Given the description of an element on the screen output the (x, y) to click on. 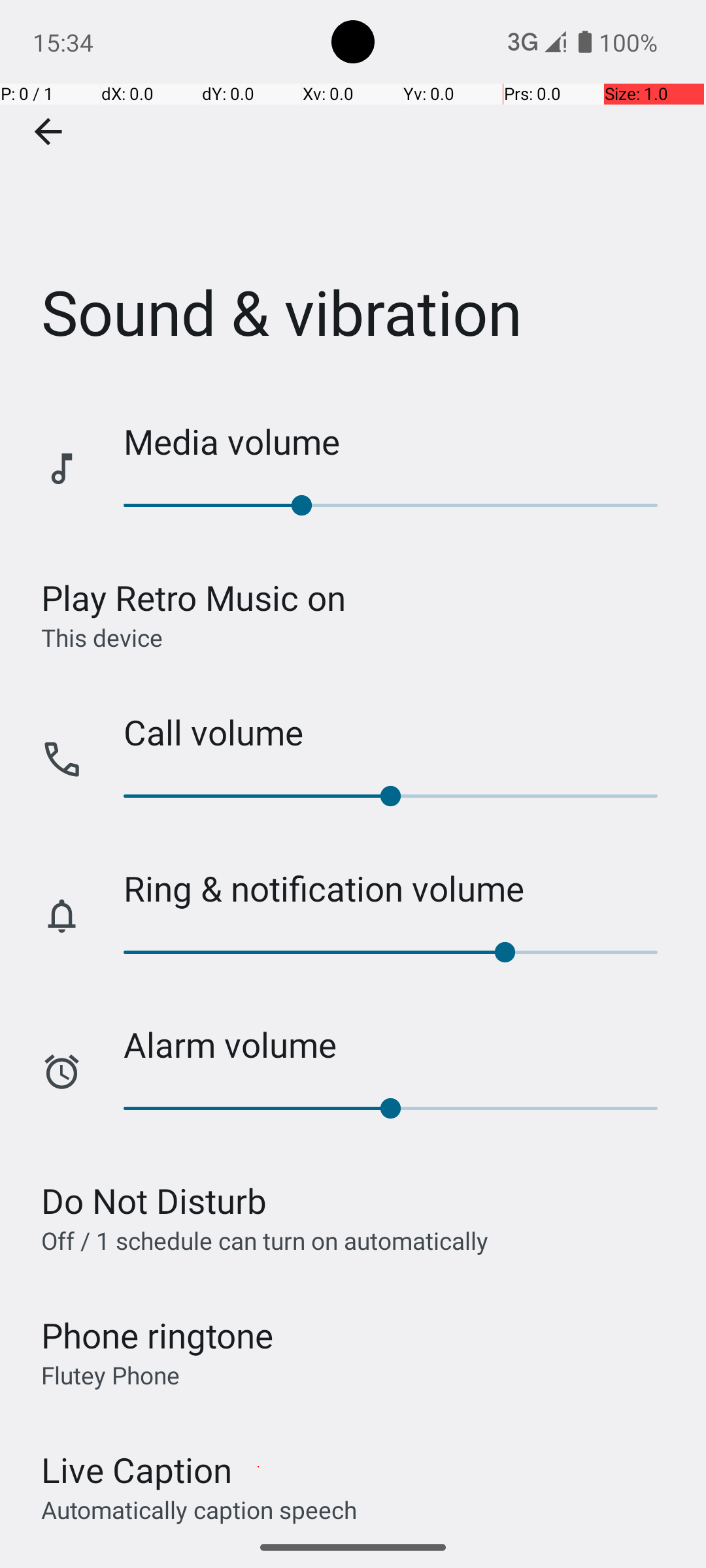
Media volume Element type: android.widget.TextView (400, 441)
Play Retro Music on Element type: android.widget.TextView (193, 597)
This device Element type: android.widget.TextView (101, 636)
Call volume Element type: android.widget.TextView (400, 731)
Ring & notification volume Element type: android.widget.TextView (400, 888)
Alarm volume Element type: android.widget.TextView (400, 1044)
Do Not Disturb Element type: android.widget.TextView (153, 1200)
Off / 1 schedule can turn on automatically Element type: android.widget.TextView (264, 1240)
Phone ringtone Element type: android.widget.TextView (157, 1334)
Flutey Phone Element type: android.widget.TextView (110, 1374)
Live Caption Element type: android.widget.TextView (136, 1469)
Automatically caption speech Element type: android.widget.TextView (199, 1509)
